Given the description of an element on the screen output the (x, y) to click on. 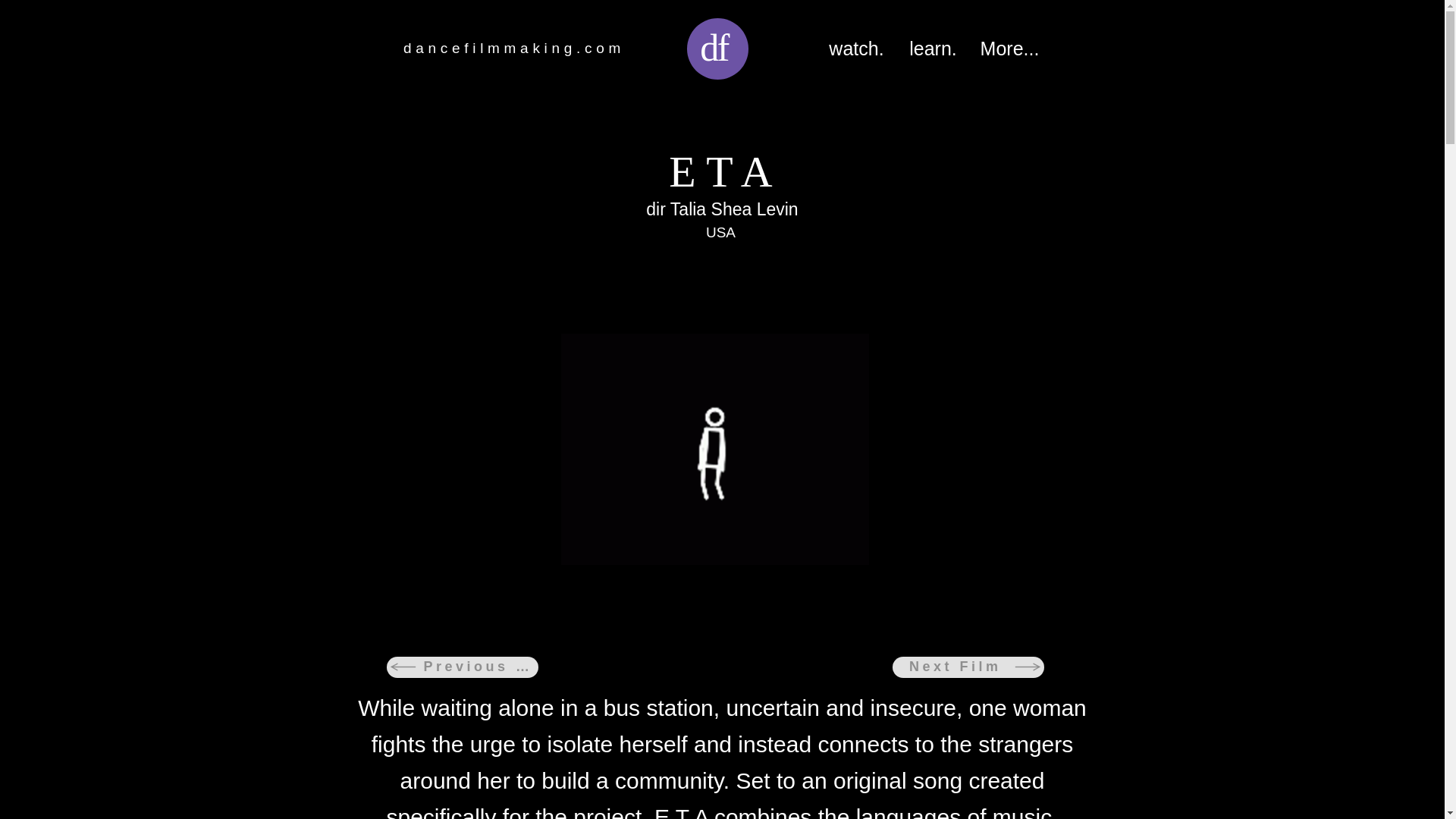
watch. (856, 48)
learn. (933, 48)
Next Film (967, 667)
Previous Film (462, 667)
